Given the description of an element on the screen output the (x, y) to click on. 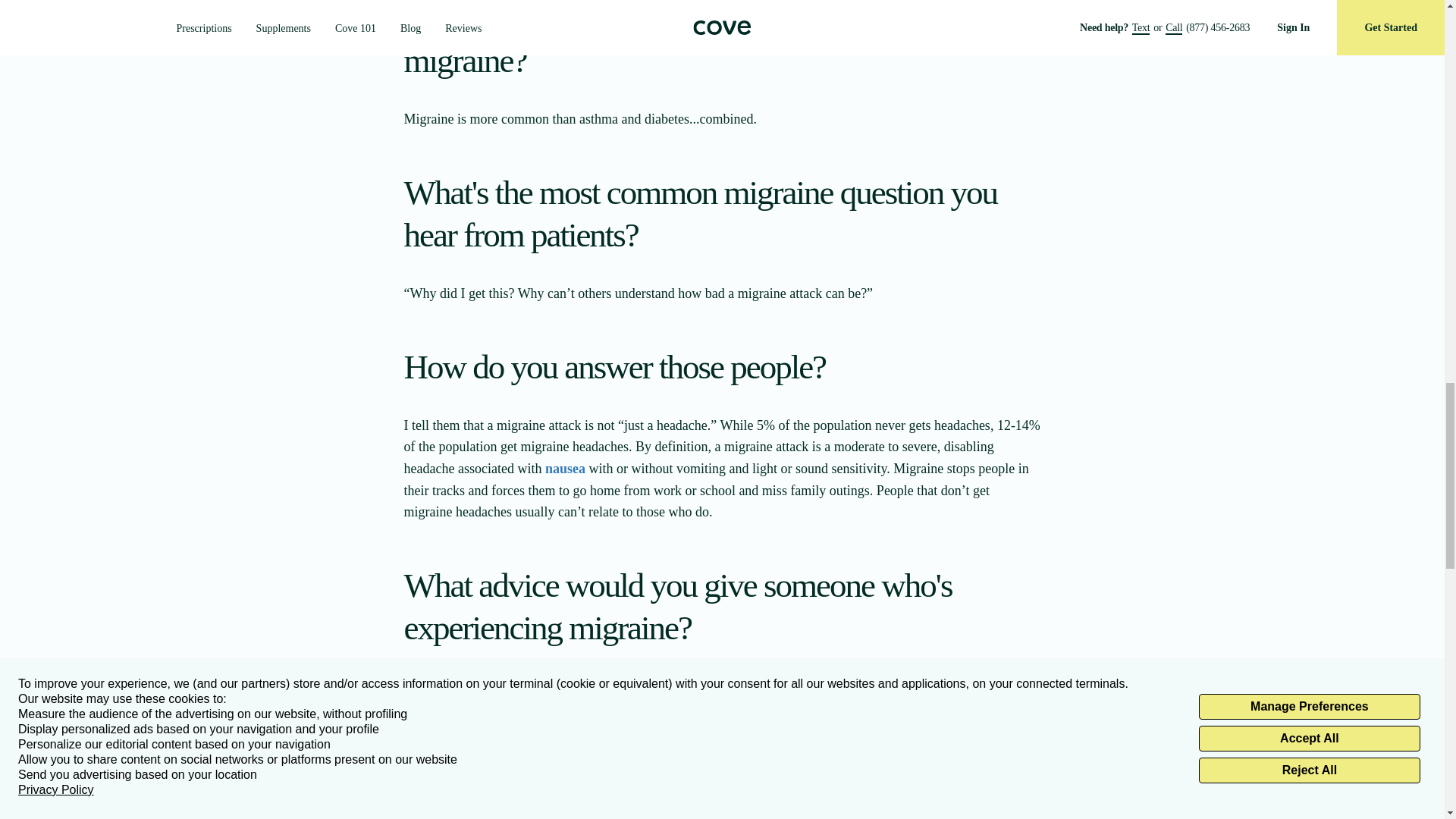
effective treatments (631, 686)
nausea (564, 468)
